Given the description of an element on the screen output the (x, y) to click on. 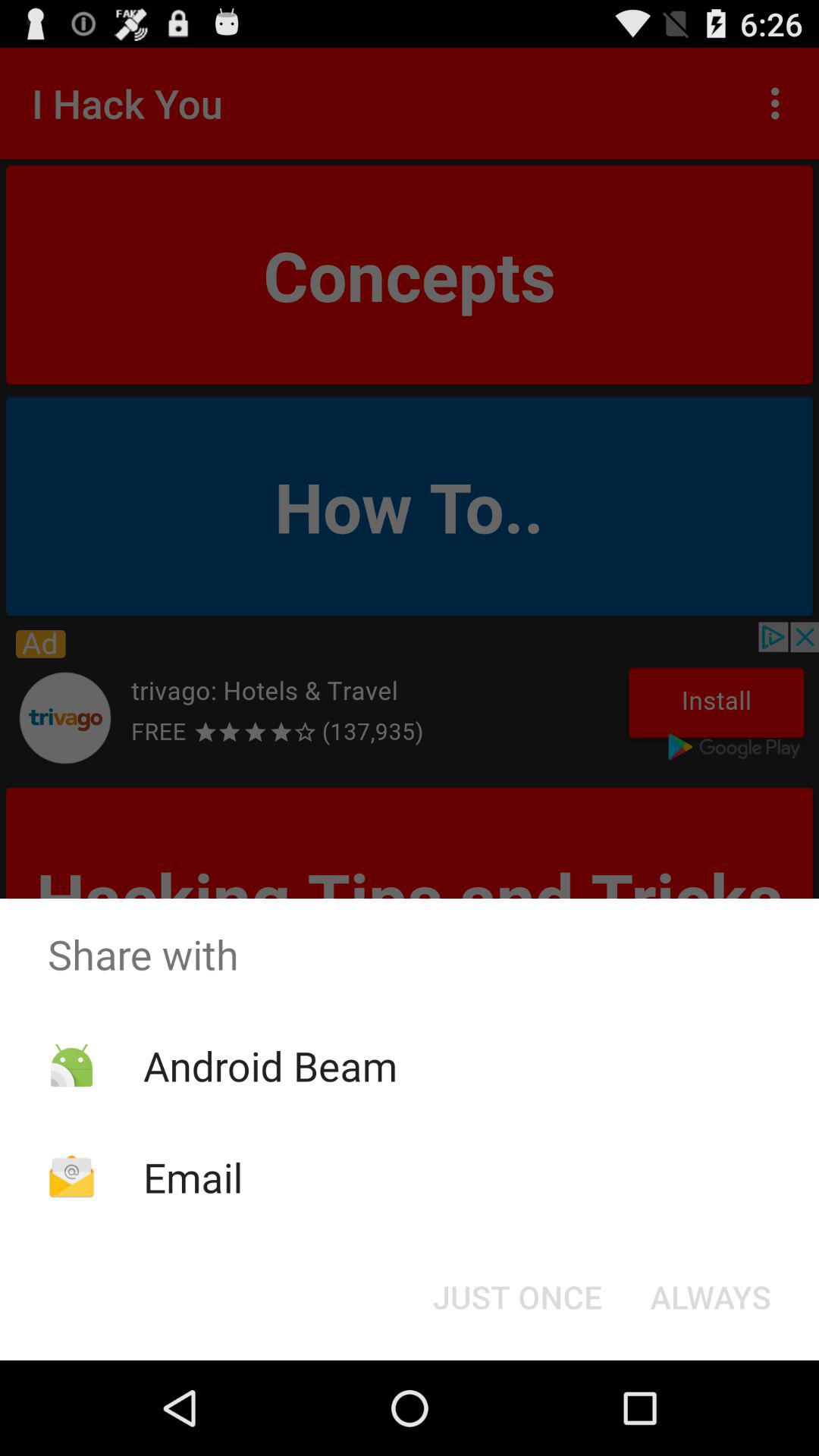
choose always button (710, 1296)
